Given the description of an element on the screen output the (x, y) to click on. 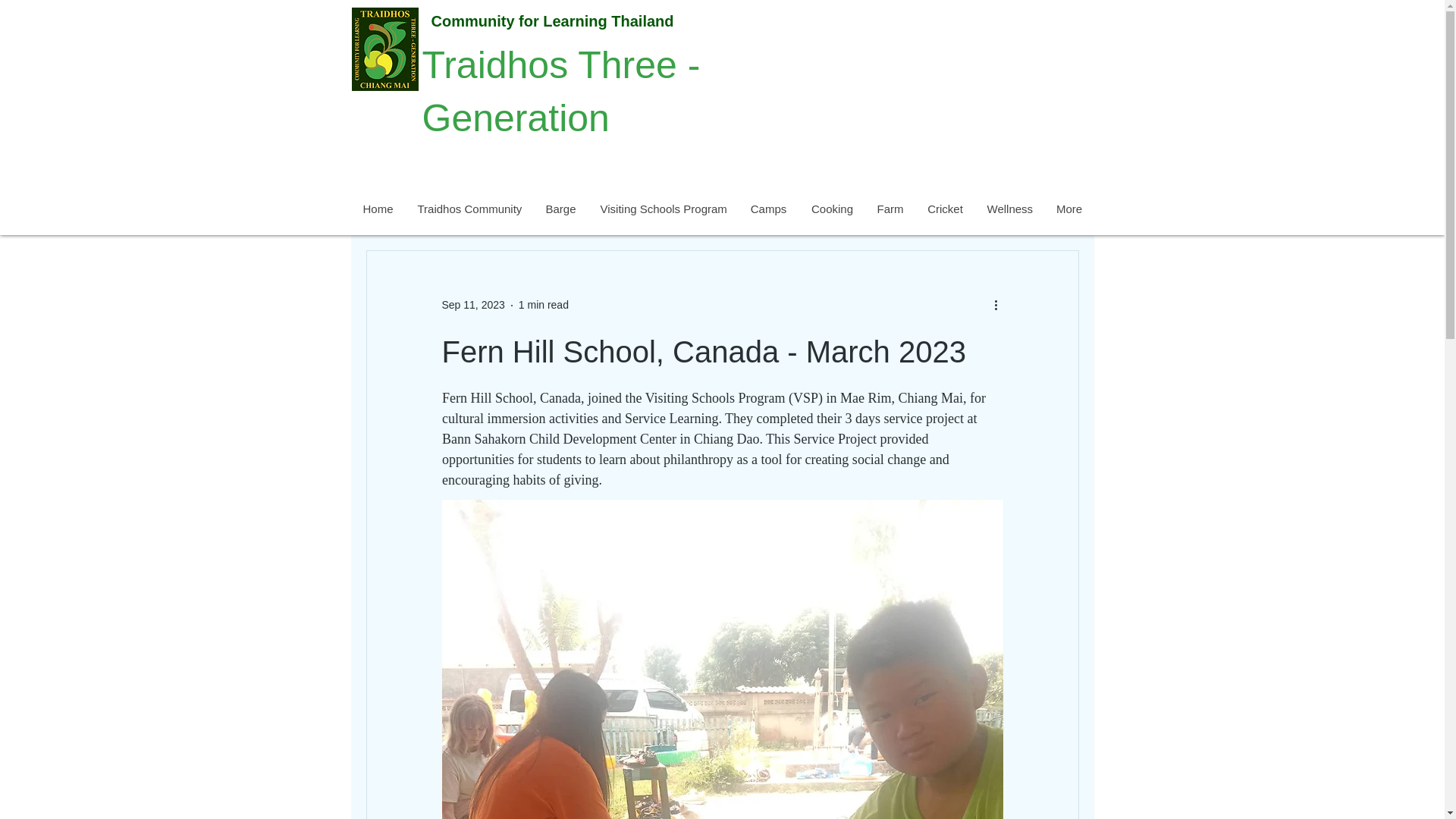
Traidhos Community (468, 208)
Sep 11, 2023 (472, 304)
Cooking (831, 208)
1 min read (543, 304)
Traidhos Three - Generation  (561, 92)
Camps (766, 208)
Community for Learning Thailand (551, 21)
Visiting Schools Program (663, 208)
Home (377, 208)
Barge (560, 208)
